Given the description of an element on the screen output the (x, y) to click on. 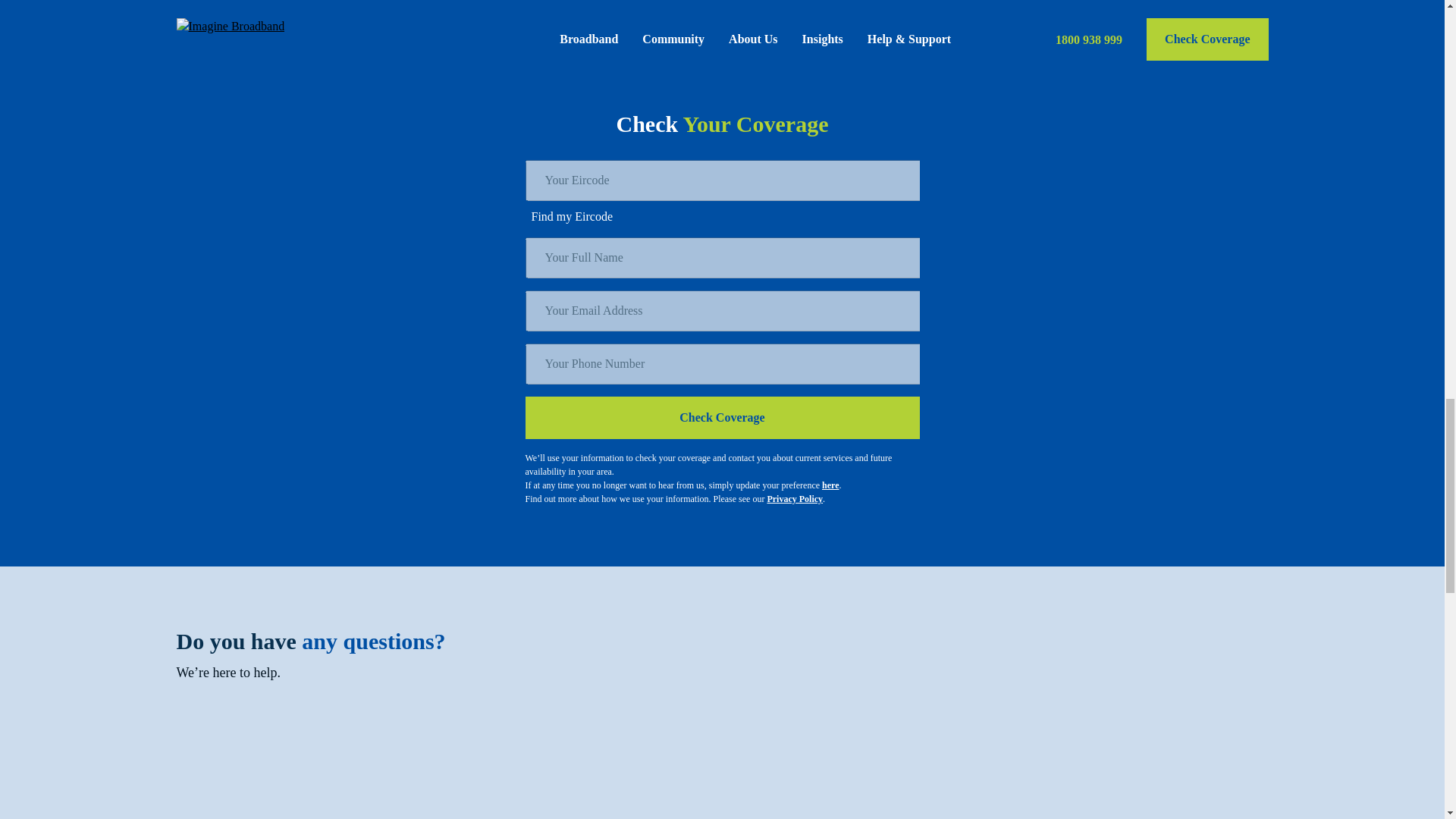
here (830, 484)
Check Coverage (721, 417)
Privacy Policy (794, 498)
Find my Eircode (721, 216)
Check Coverage (721, 417)
